Given the description of an element on the screen output the (x, y) to click on. 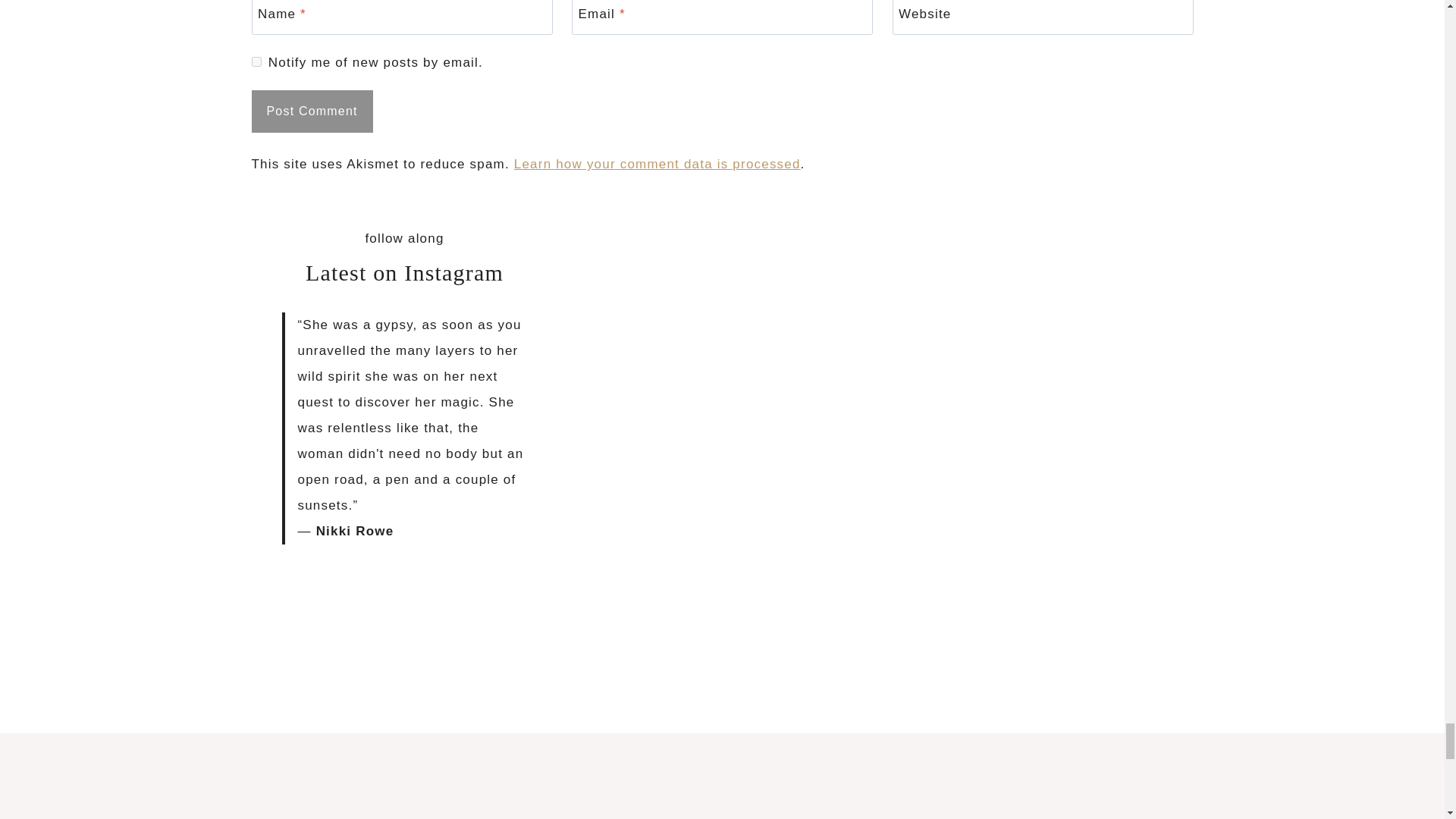
Post Comment (311, 111)
subscribe (256, 61)
